Given the description of an element on the screen output the (x, y) to click on. 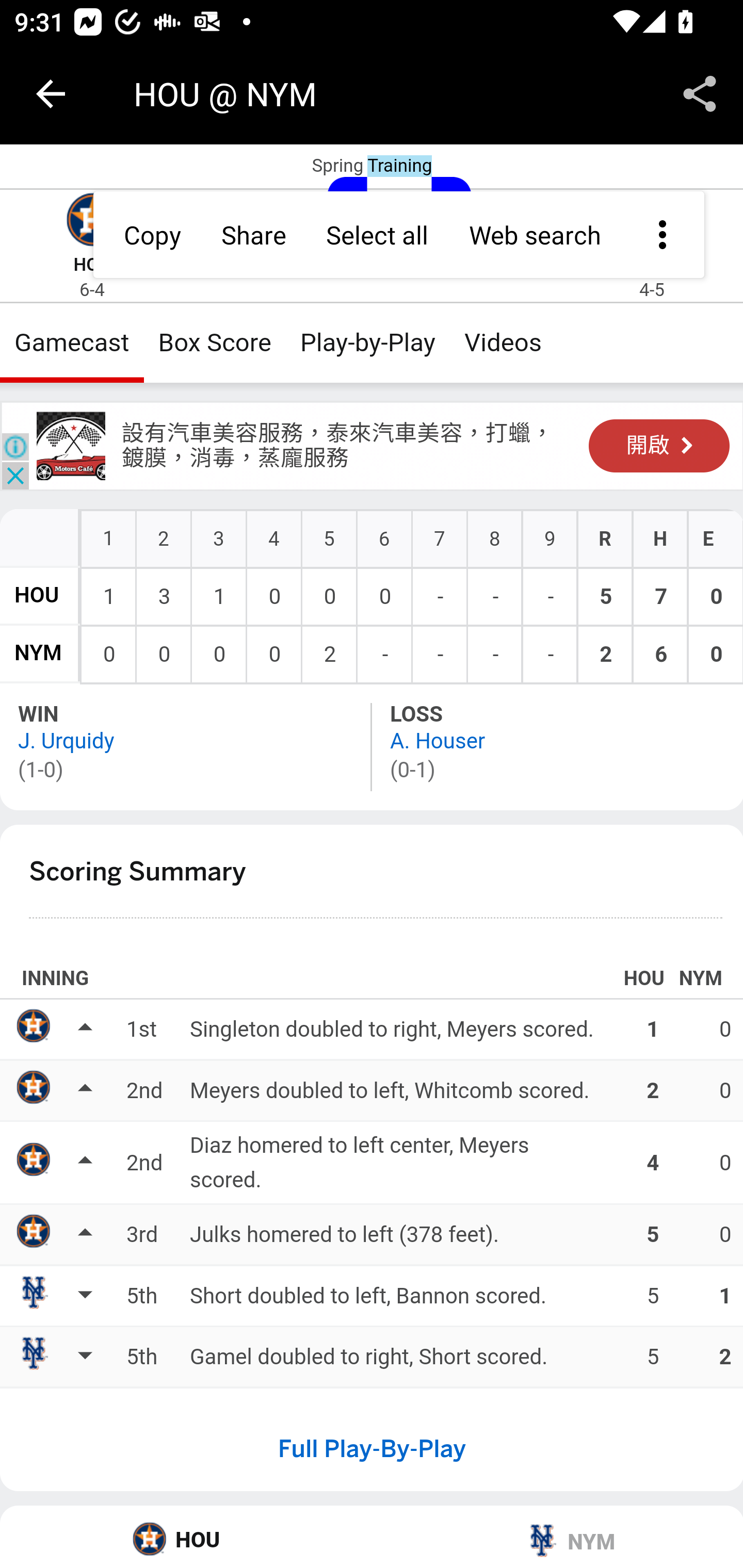
Navigate up (50, 93)
Share (699, 93)
Houston Astros (91, 221)
New York Mets (651, 221)
Gamecast (72, 342)
Box Score (214, 342)
Play-by-Play (368, 342)
Videos (502, 342)
泰來車行 Tai Loi Motors (71, 445)
泰來車行 Tai Loi Motors (224, 428)
開啟 (659, 445)
元朗車行dealer二手車買賣跑車 (318, 457)
HOU (36, 595)
NYM (38, 653)
WIN J. Urquidy (1-0) WIN J. Urquidy (1-0) (186, 746)
LOSS A. Houser (0-1) LOSS A. Houser (0-1) (557, 746)
Full Play-By-Play (371, 1448)
HOU (186, 1536)
NYM (557, 1536)
